Given the description of an element on the screen output the (x, y) to click on. 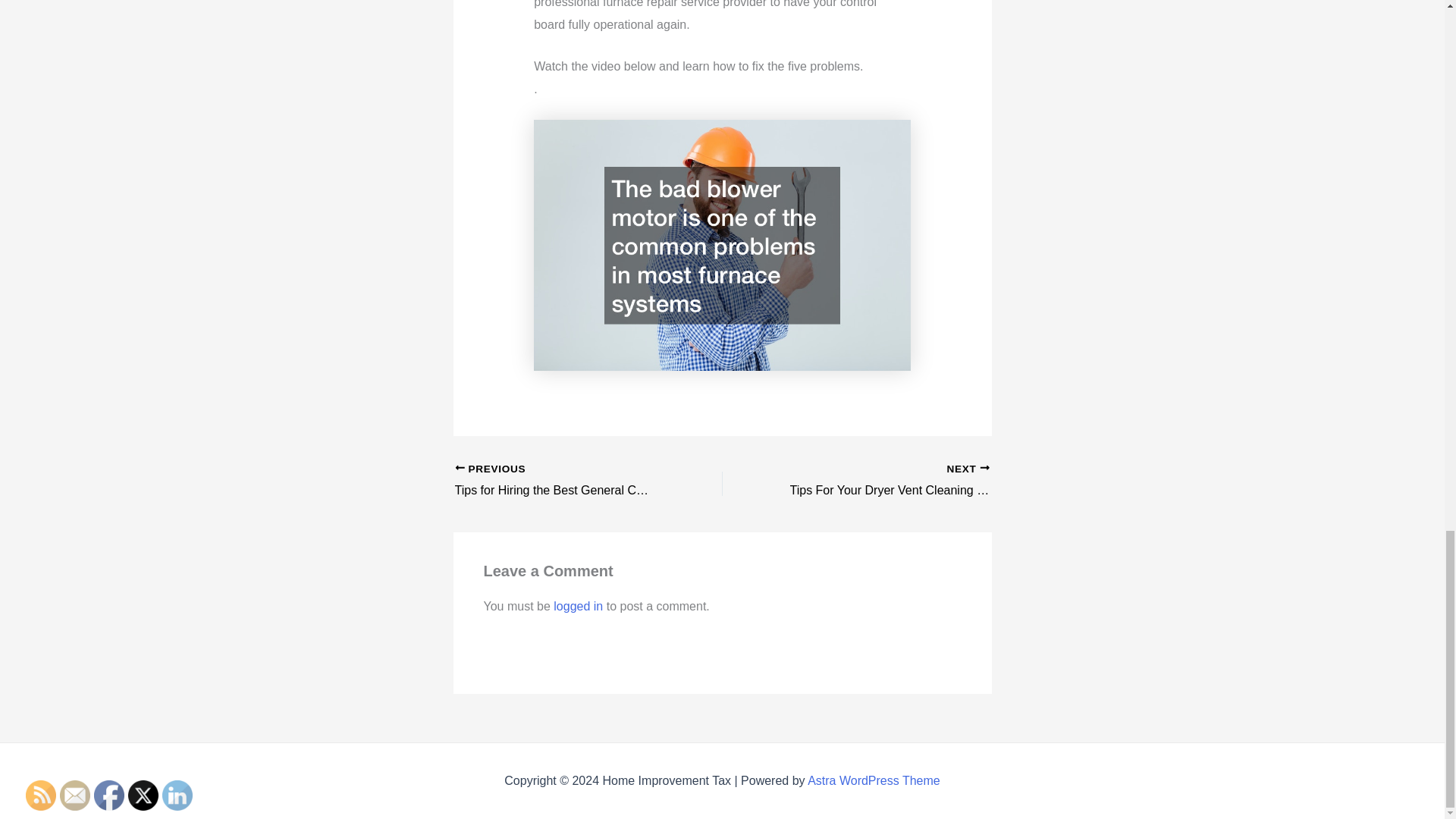
Follow by Email (74, 795)
Astra WordPress Theme (874, 780)
Facebook (108, 795)
Tips For Your Dryer Vent Cleaning Service (882, 481)
RSS (41, 795)
logged in (577, 605)
Tips for Hiring the Best General Contracting Services (561, 481)
Twitter (143, 795)
LinkedIn (176, 795)
